Given the description of an element on the screen output the (x, y) to click on. 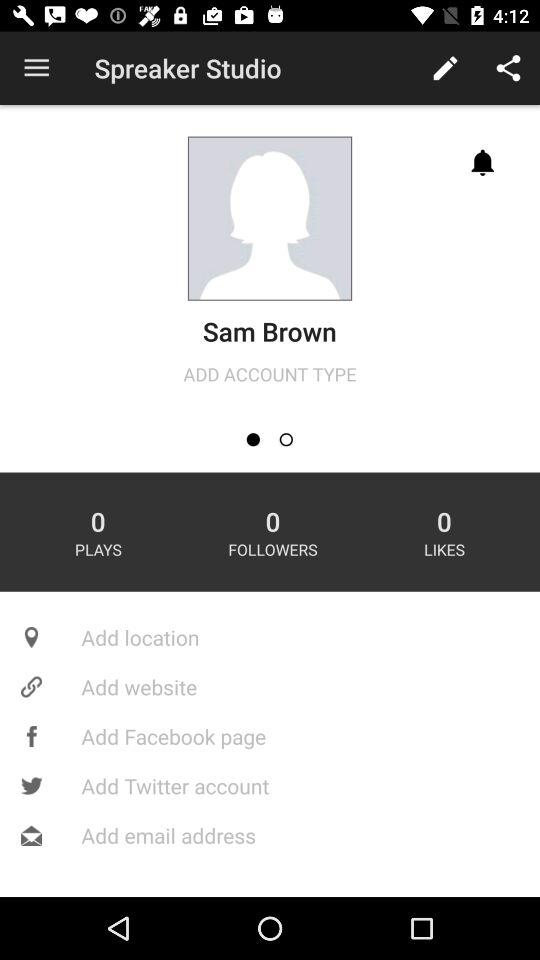
settings (285, 439)
